Given the description of an element on the screen output the (x, y) to click on. 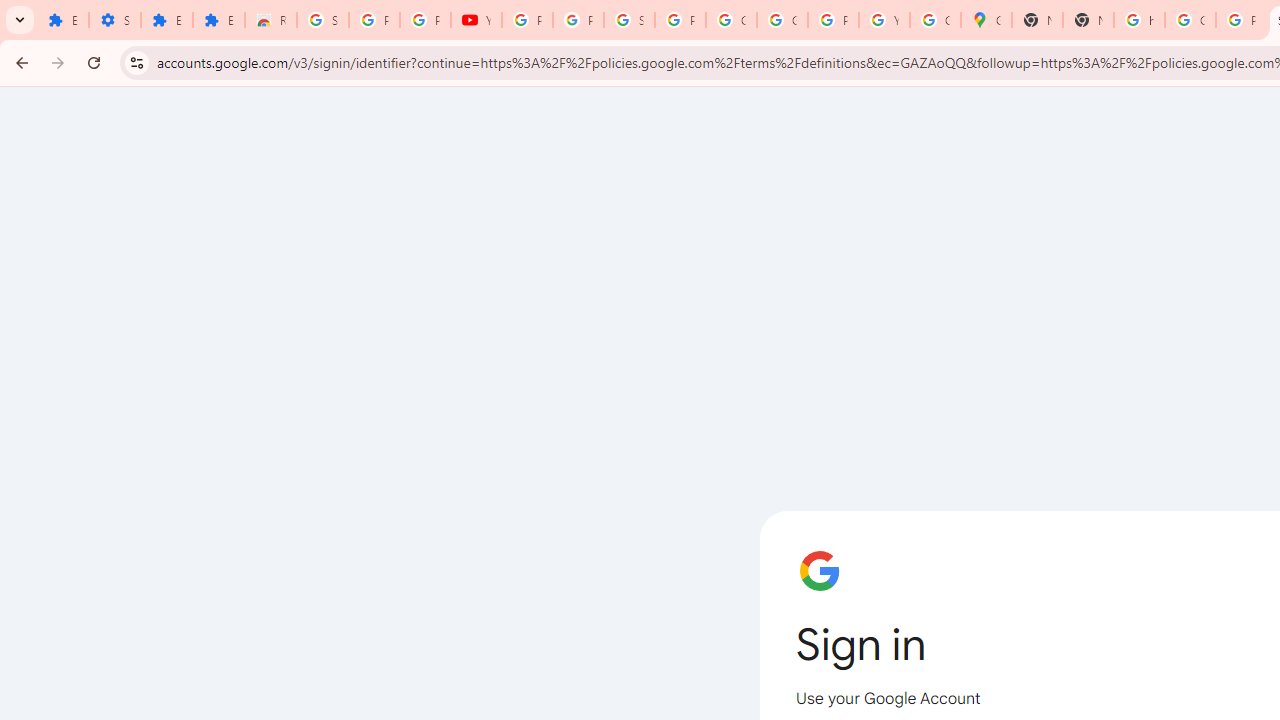
Extensions (218, 20)
